Given the description of an element on the screen output the (x, y) to click on. 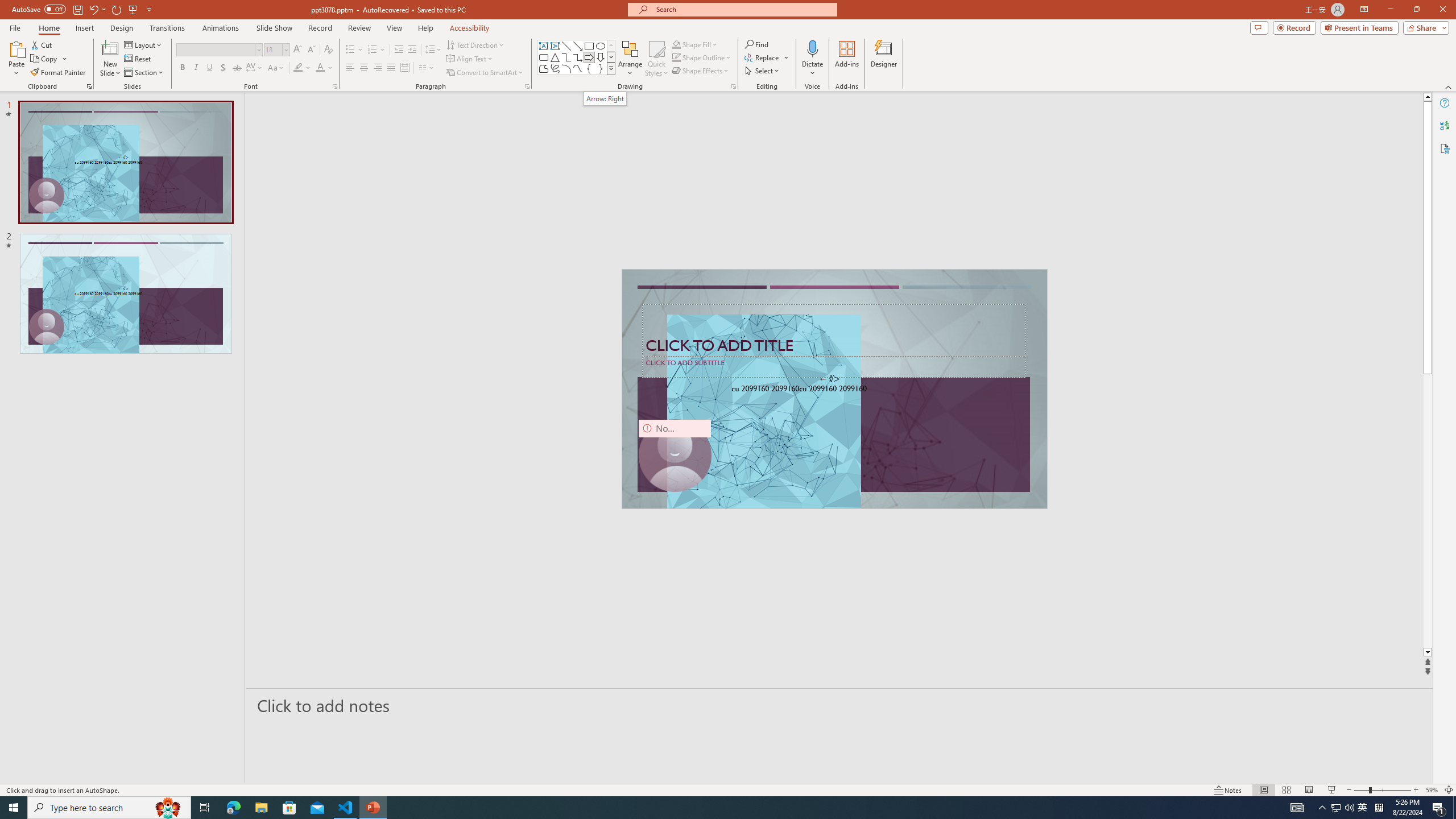
Underline (209, 67)
Paragraph... (526, 85)
Shape Outline (701, 56)
Convert to SmartArt (485, 72)
